Given the description of an element on the screen output the (x, y) to click on. 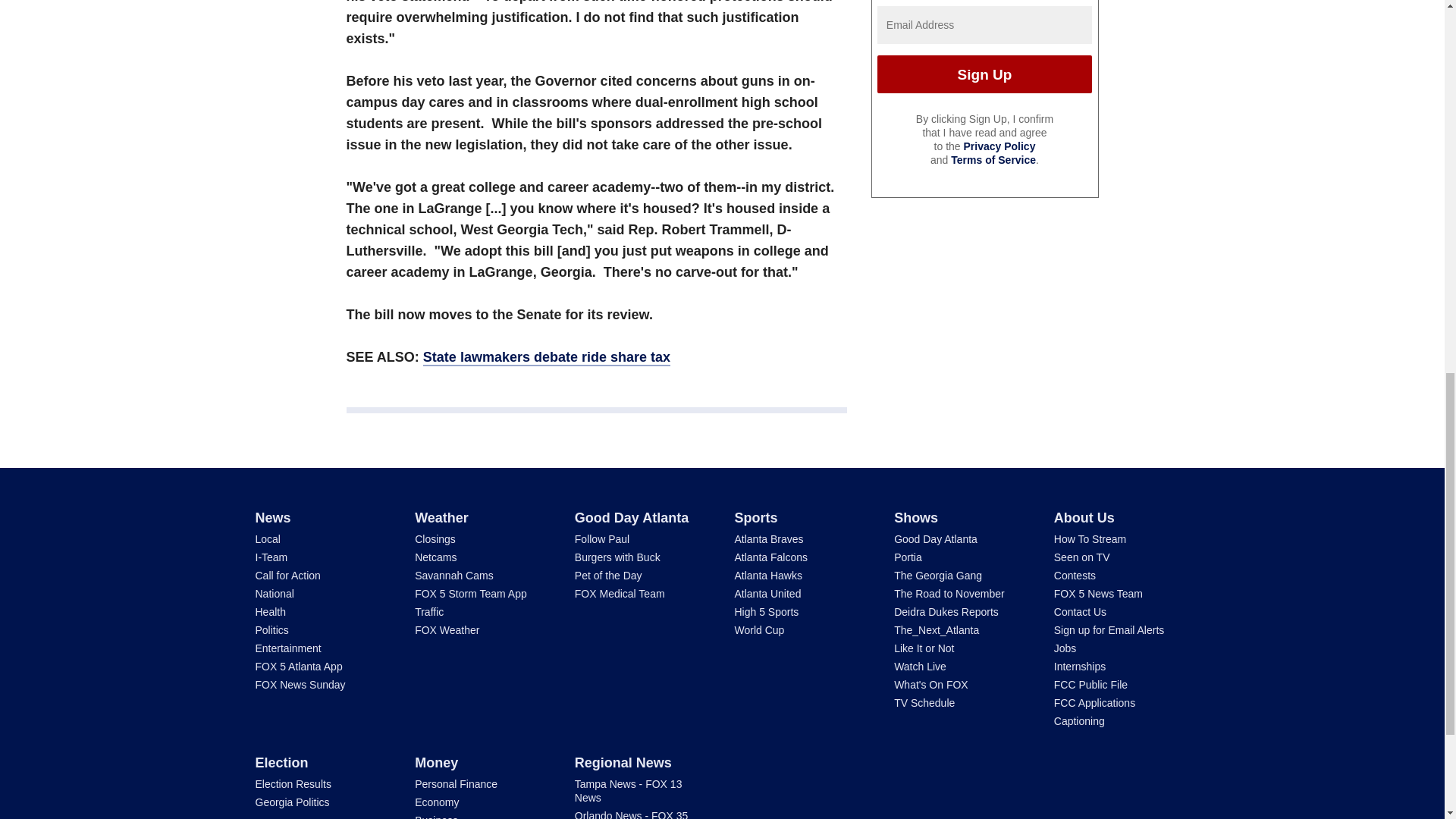
Sign Up (984, 74)
